Given the description of an element on the screen output the (x, y) to click on. 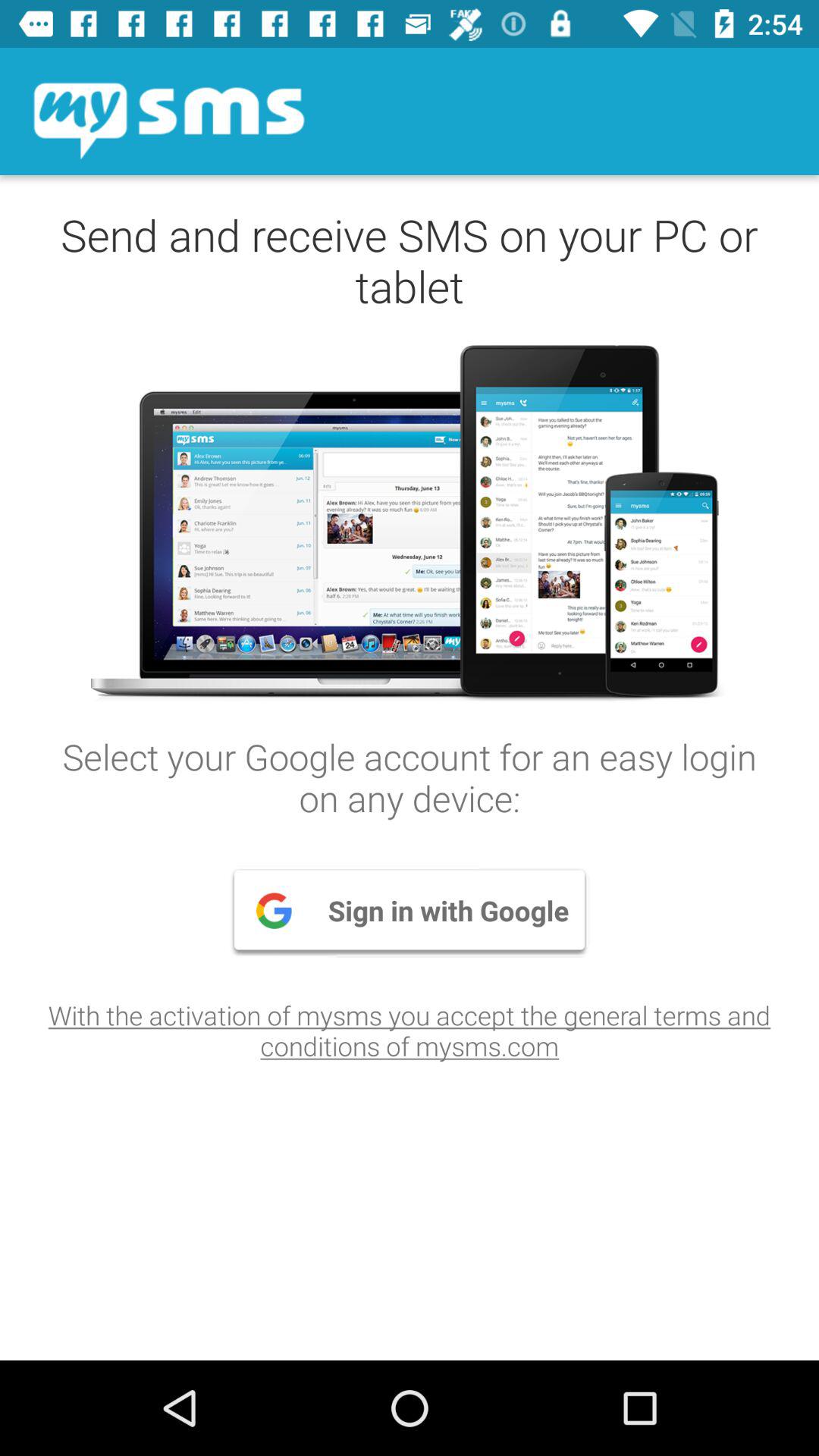
press icon below the select your google item (409, 909)
